Given the description of an element on the screen output the (x, y) to click on. 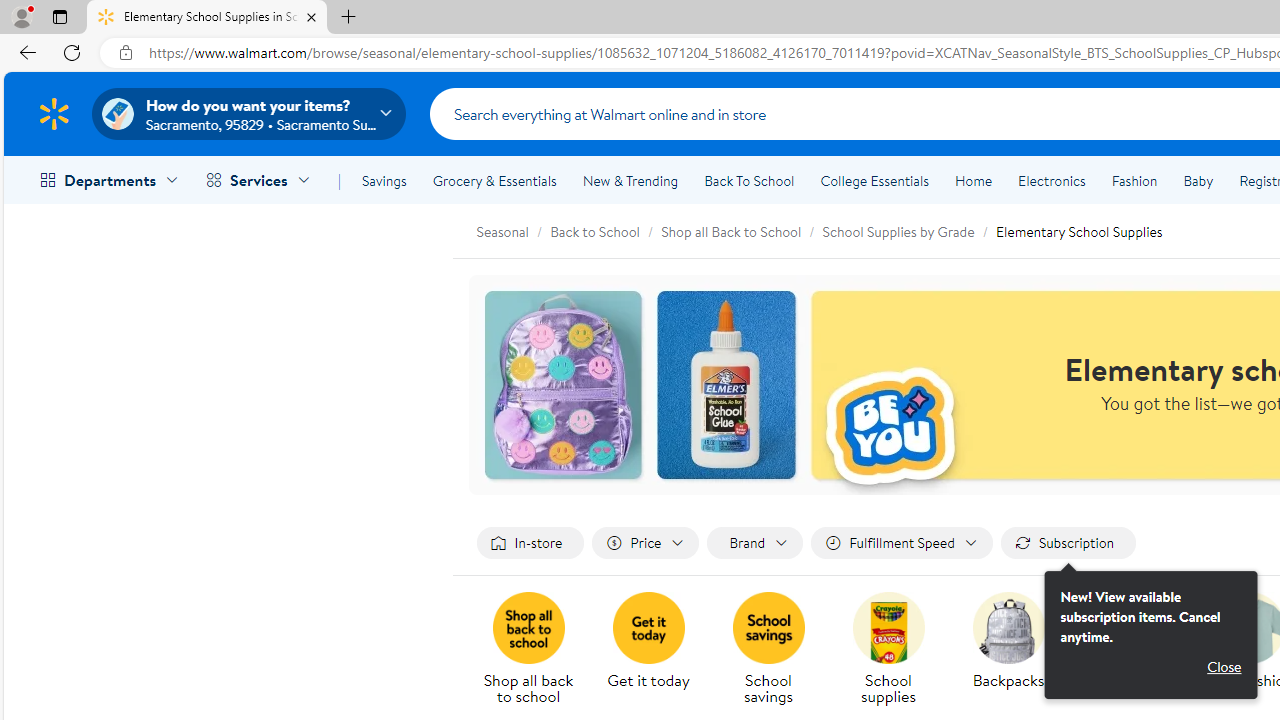
Grocery & Essentials (493, 180)
Seasonal (502, 231)
School supplies (888, 628)
Filter by Fulfillment Speed not applied, activate to change (902, 543)
Back To School (749, 180)
Seasonal (513, 230)
School Supplies by Grade (898, 231)
Shop all Back to School (731, 231)
New & Trending (630, 180)
A gray metallic backpack is on display. Backpacks (1008, 641)
